Given the description of an element on the screen output the (x, y) to click on. 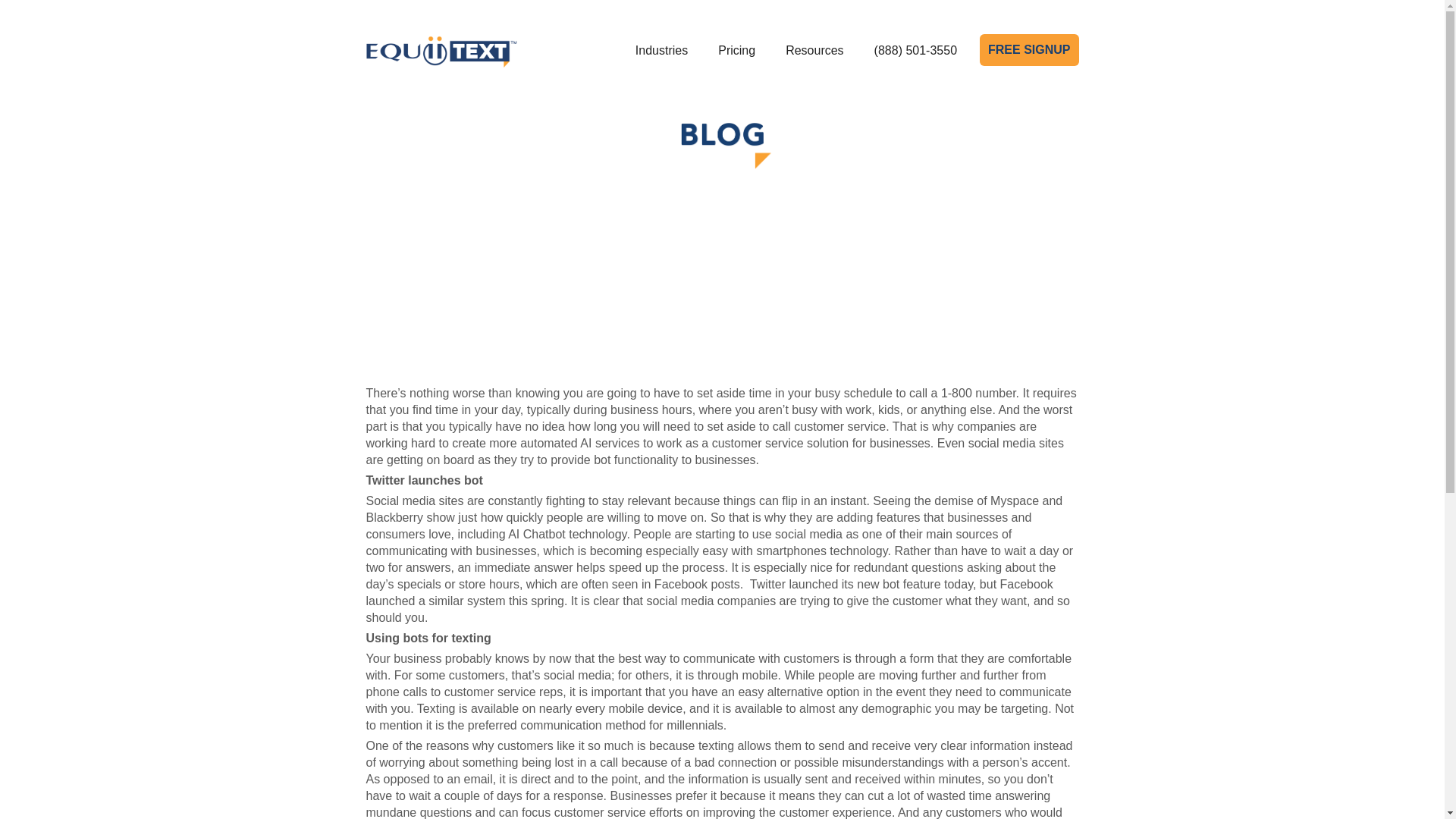
FREE SIGNUP (1029, 49)
Resources (814, 50)
Industries (660, 50)
Pricing (736, 50)
